Given the description of an element on the screen output the (x, y) to click on. 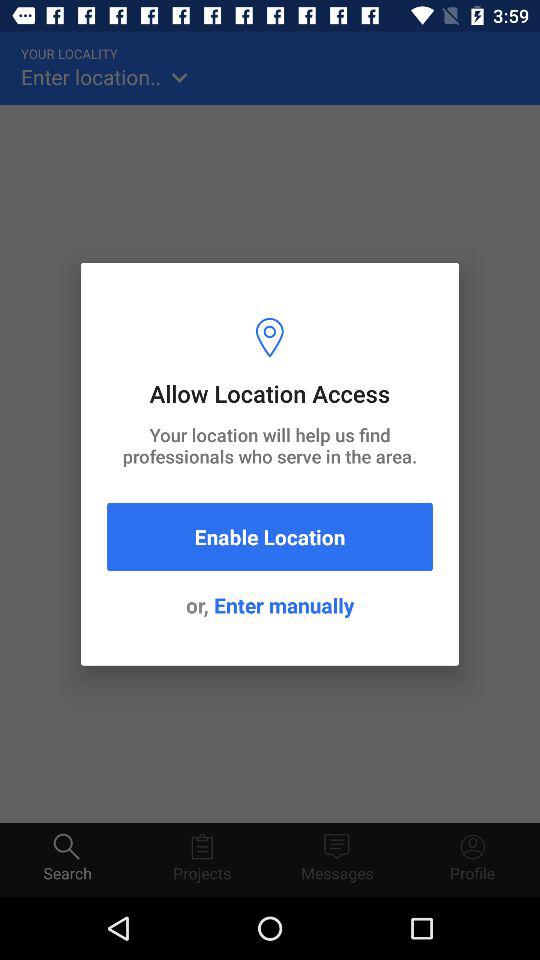
open item below the enable location icon (269, 605)
